Given the description of an element on the screen output the (x, y) to click on. 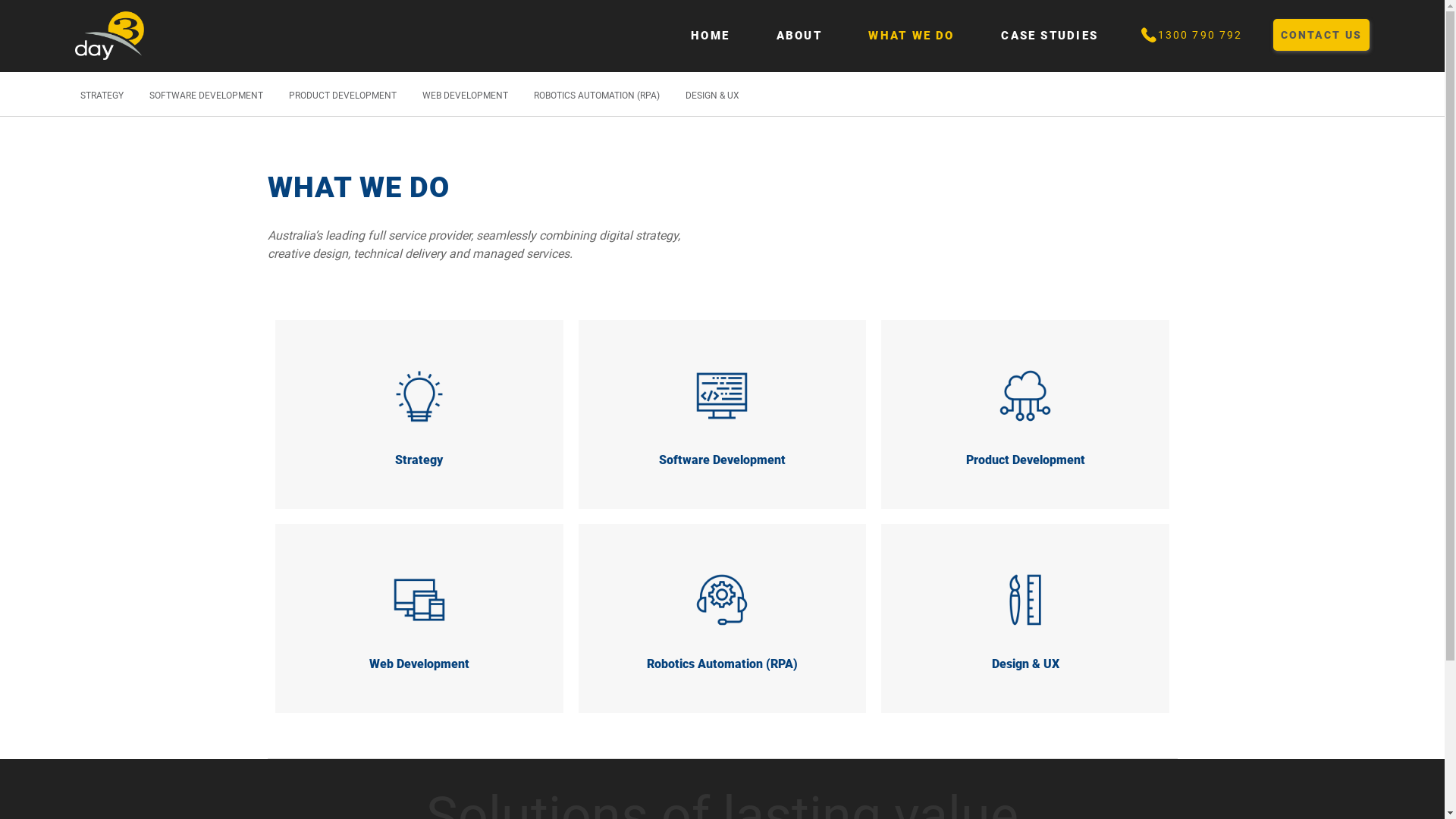
CASE STUDIES Element type: text (1043, 38)
Product Development Element type: text (1025, 414)
HOME Element type: text (704, 38)
PRODUCT DEVELOPMENT Element type: text (342, 95)
Strategy Element type: text (419, 414)
ABOUT Element type: text (793, 38)
Robotics Automation (RPA) Element type: text (722, 618)
SOFTWARE DEVELOPMENT Element type: text (206, 95)
ROBOTICS AUTOMATION (RPA) Element type: text (596, 95)
1300 790 792 Element type: text (1190, 34)
DESIGN & UX Element type: text (712, 95)
WHAT WE DO Element type: text (904, 38)
Software Development Element type: text (722, 414)
CONTACT US Element type: text (1321, 34)
STRATEGY Element type: text (101, 95)
WEB DEVELOPMENT Element type: text (465, 95)
Design & UX Element type: text (1025, 618)
Web Development Element type: text (419, 618)
